Given the description of an element on the screen output the (x, y) to click on. 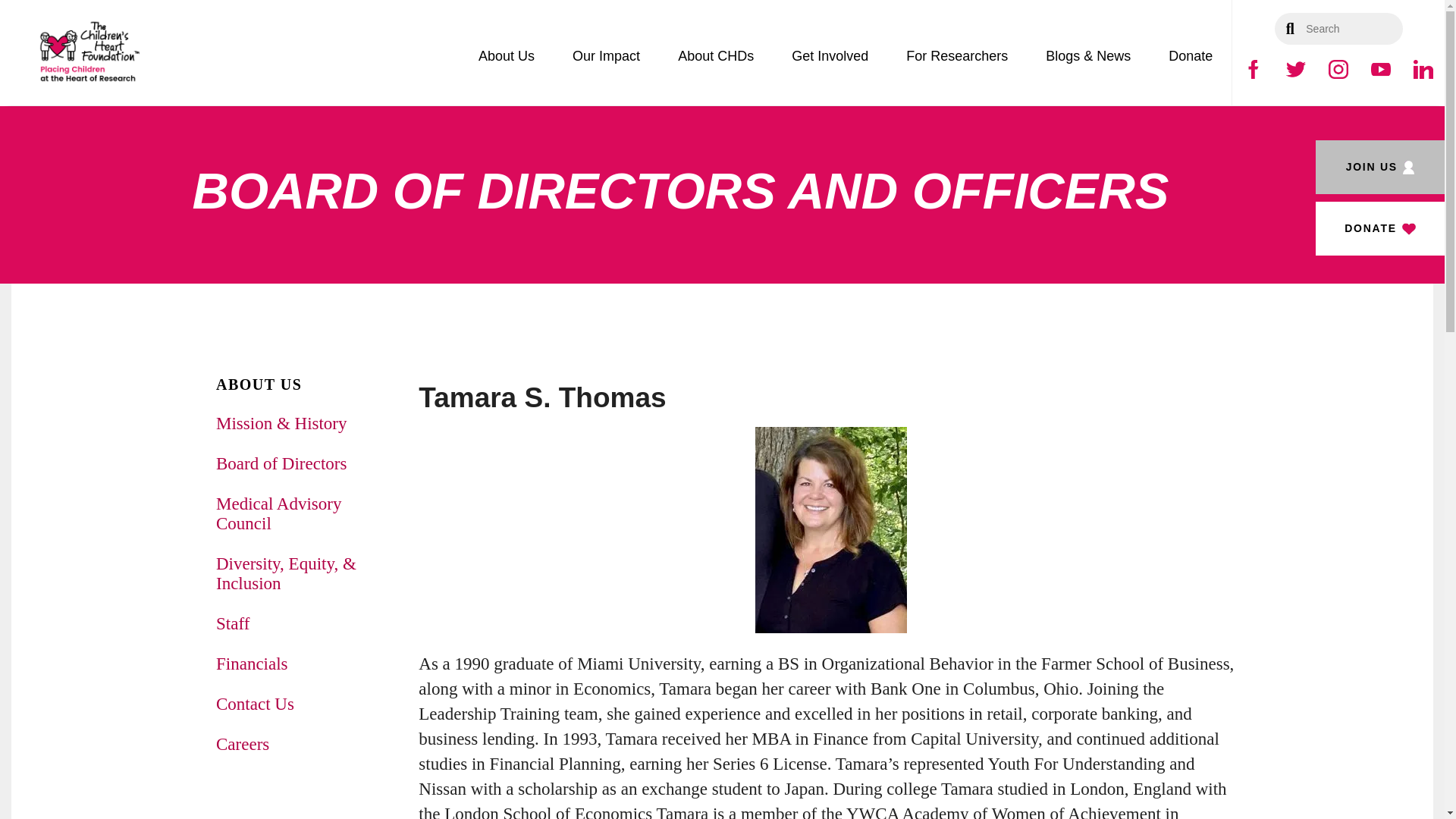
logo (89, 52)
